Given the description of an element on the screen output the (x, y) to click on. 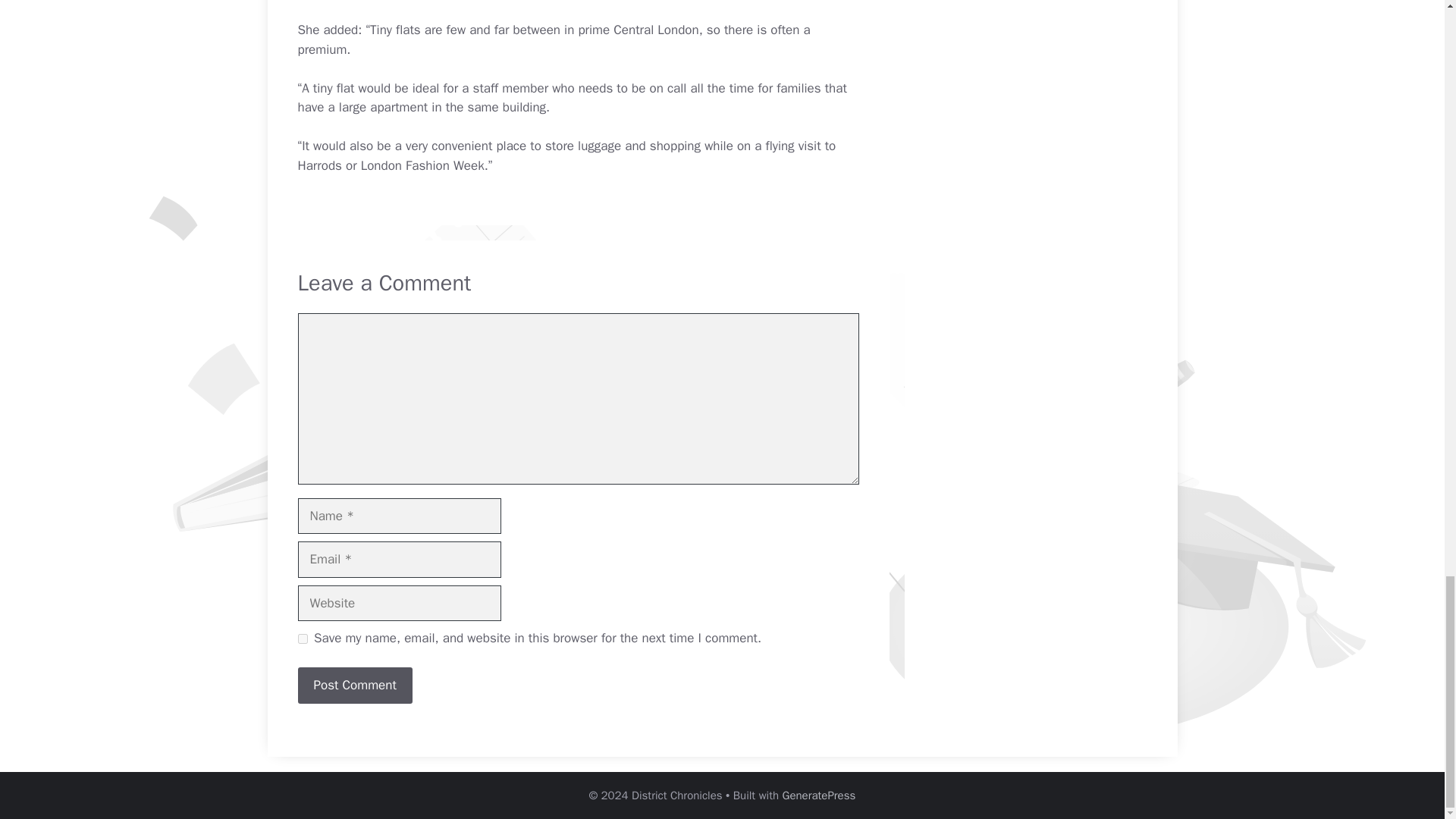
Post Comment (354, 685)
Post Comment (354, 685)
GeneratePress (819, 795)
yes (302, 638)
